Given the description of an element on the screen output the (x, y) to click on. 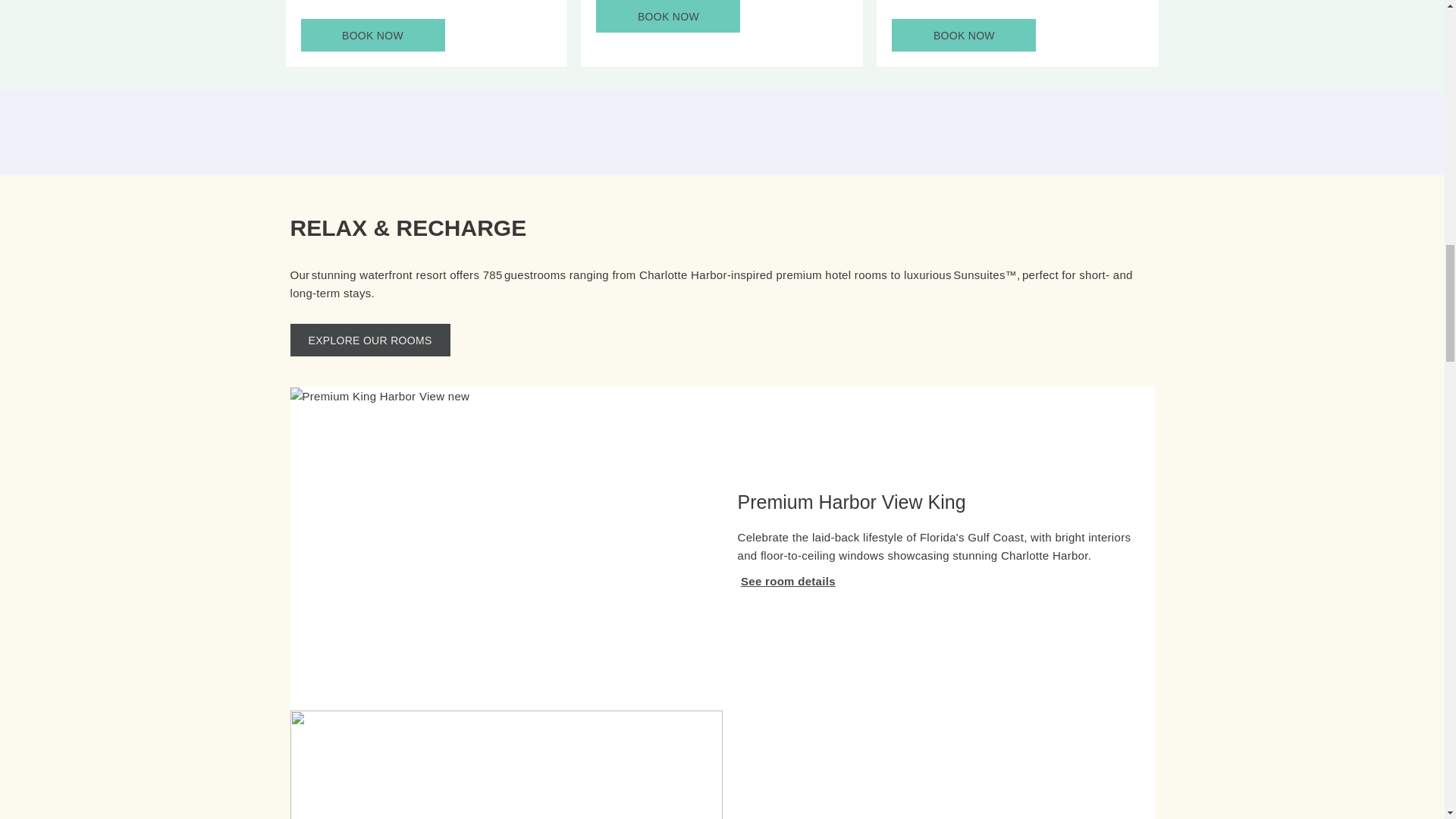
See room details (788, 581)
EXPLORE OUR ROOMS (371, 34)
